Given the description of an element on the screen output the (x, y) to click on. 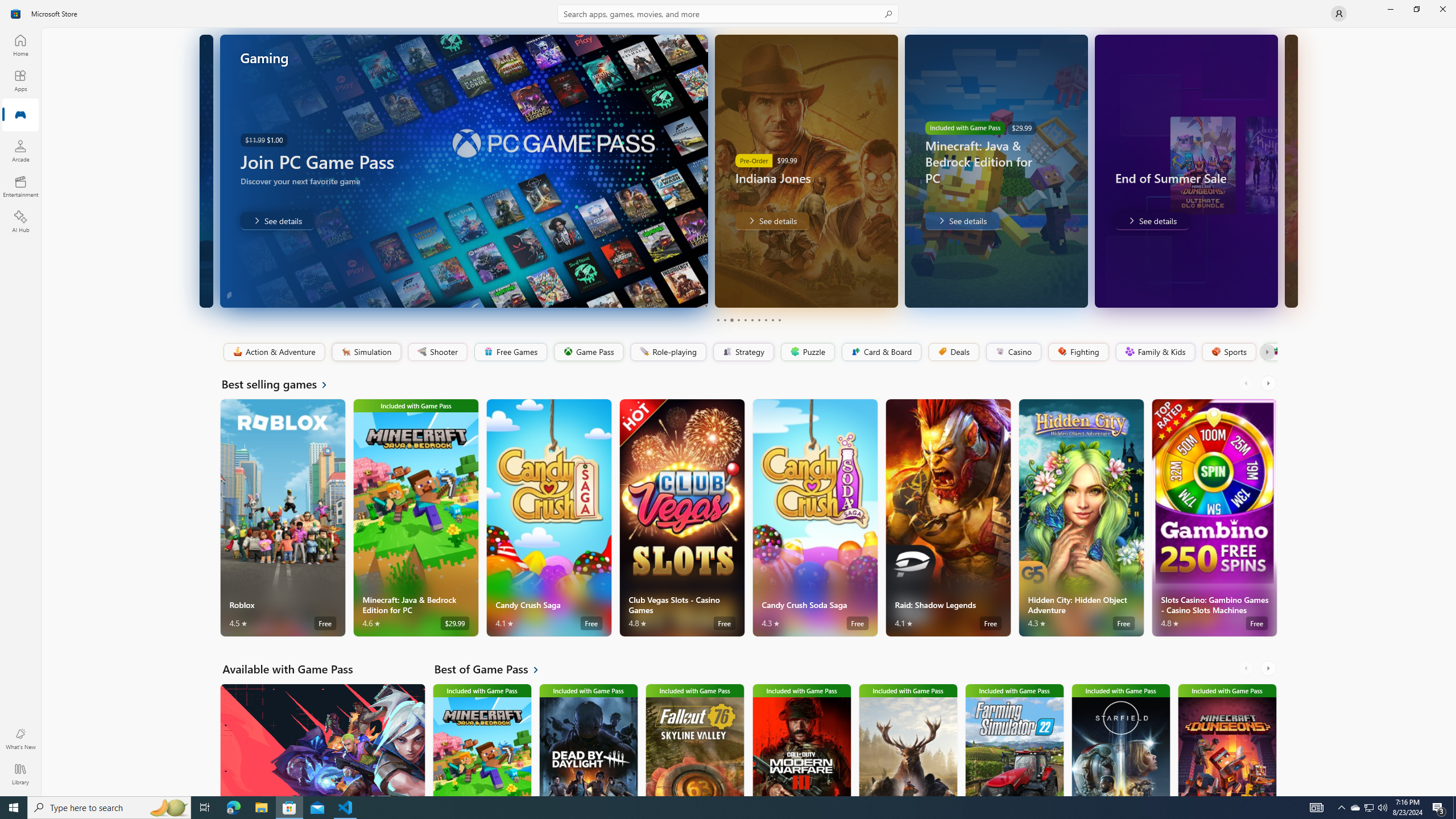
Sports (1228, 352)
See all  Best of Game Pass (493, 668)
Page 6 (751, 319)
Page 10 (779, 319)
Strategy (742, 352)
Family & Kids (1154, 352)
Platformer (1269, 352)
Page 7 (758, 319)
